Given the description of an element on the screen output the (x, y) to click on. 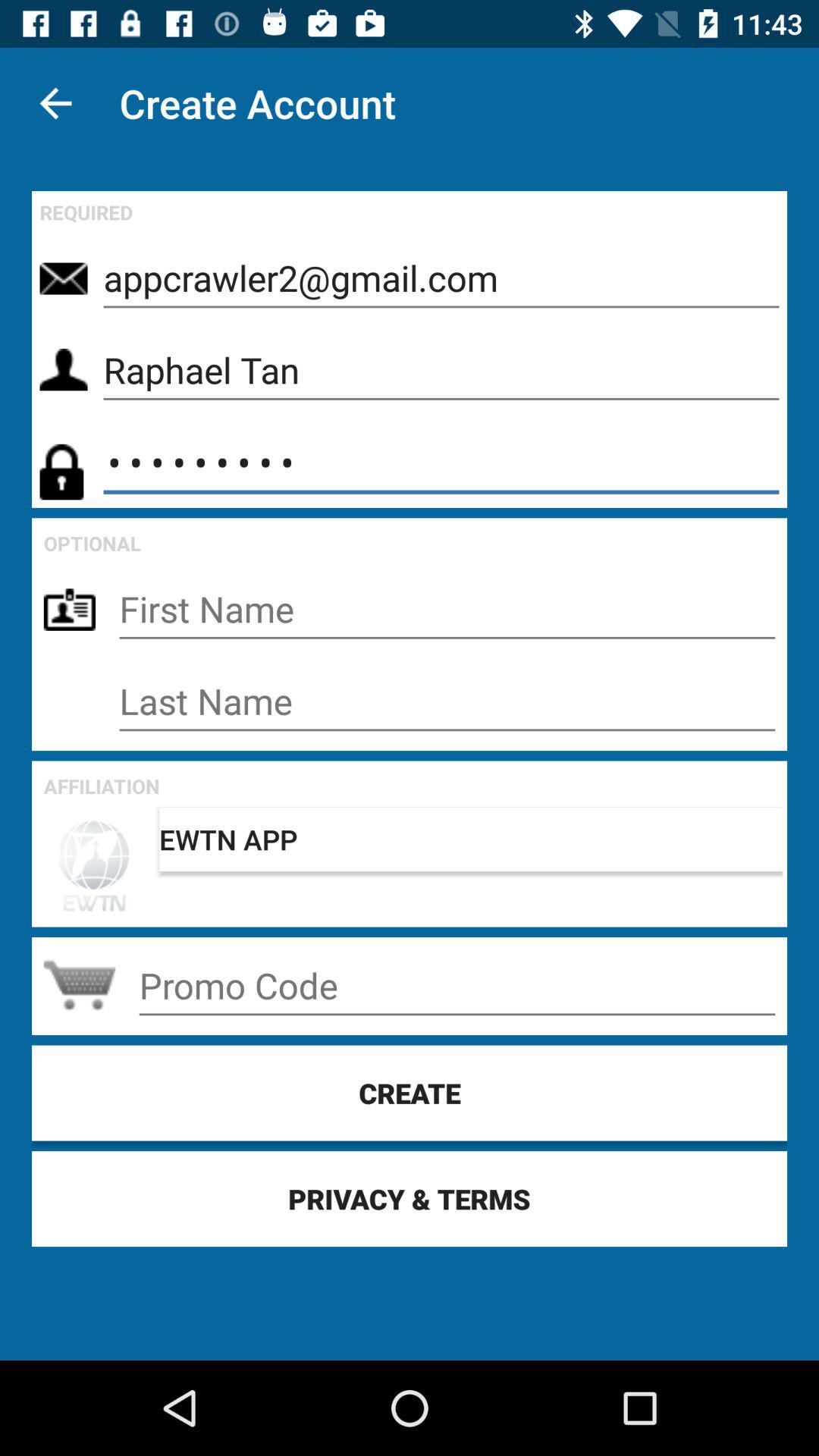
turn on the ewtn app item (471, 839)
